Given the description of an element on the screen output the (x, y) to click on. 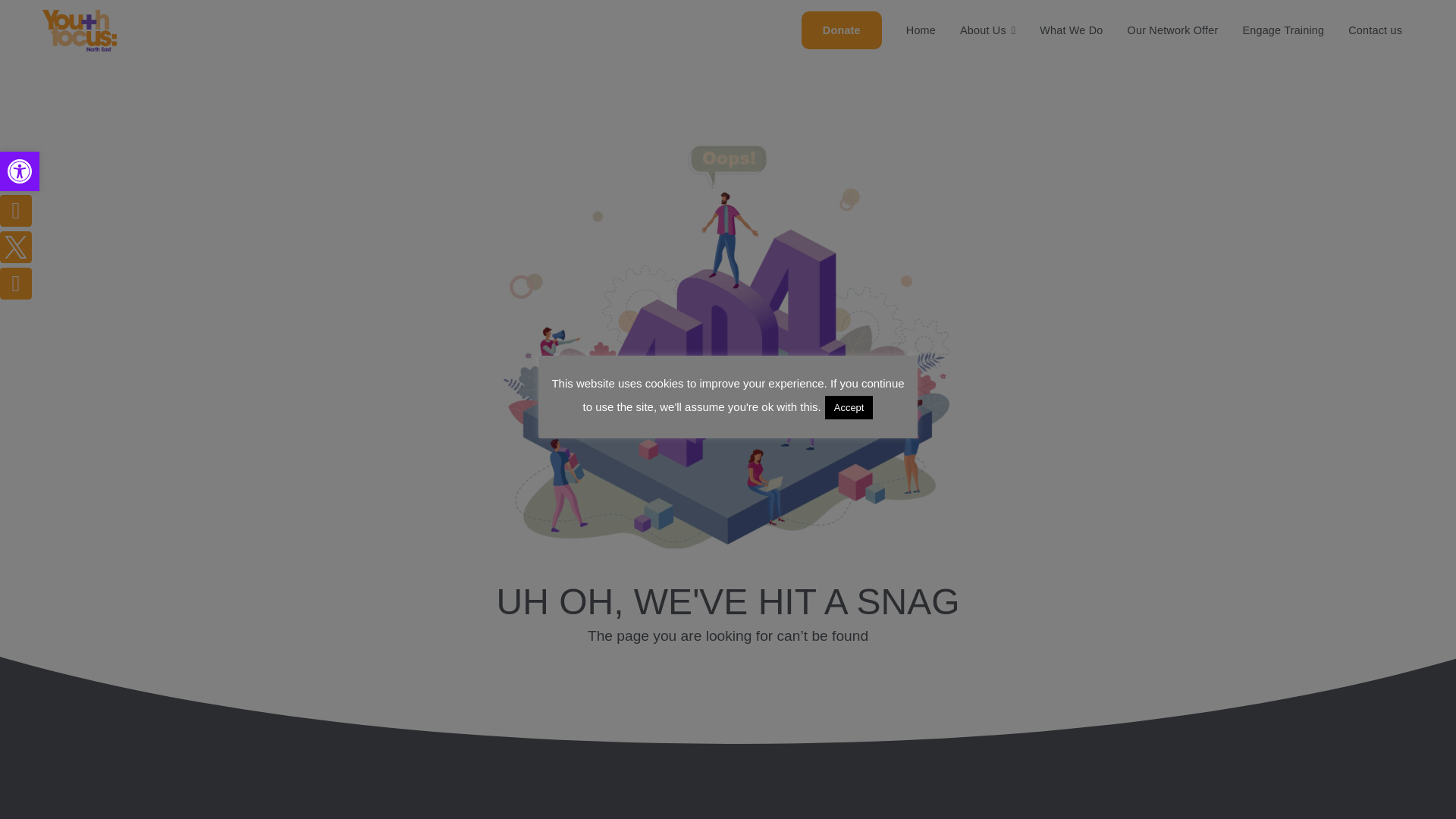
Accessibility Tools (19, 170)
Contact us (1374, 15)
Accessibility Tools (19, 170)
Donate (841, 12)
Our Network Offer (1172, 14)
Engage Training (1283, 14)
About Us (987, 8)
What We Do (1071, 13)
Home (19, 170)
